Given the description of an element on the screen output the (x, y) to click on. 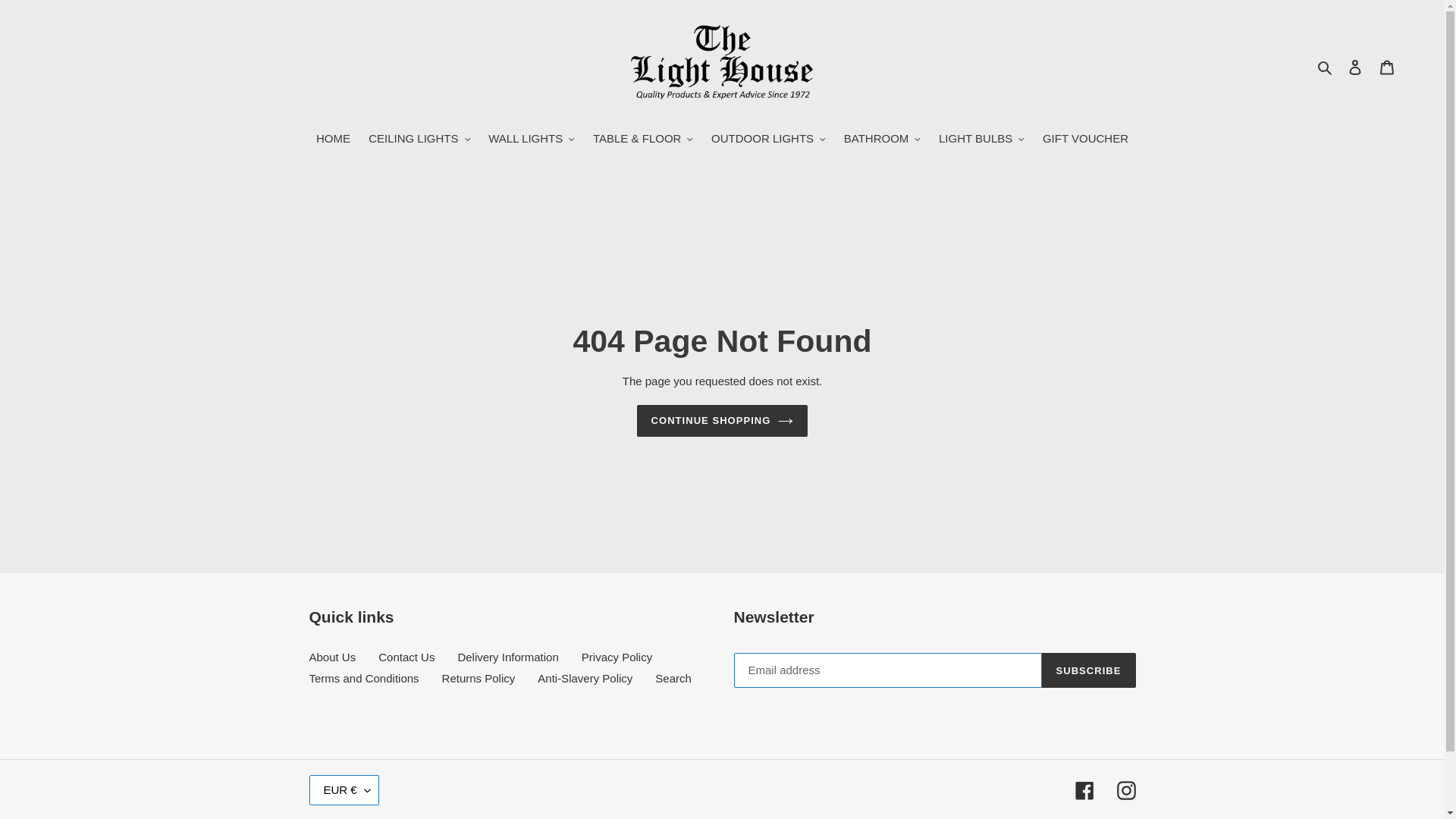
Search (1326, 66)
Cart (1387, 66)
Log in (1355, 66)
